Given the description of an element on the screen output the (x, y) to click on. 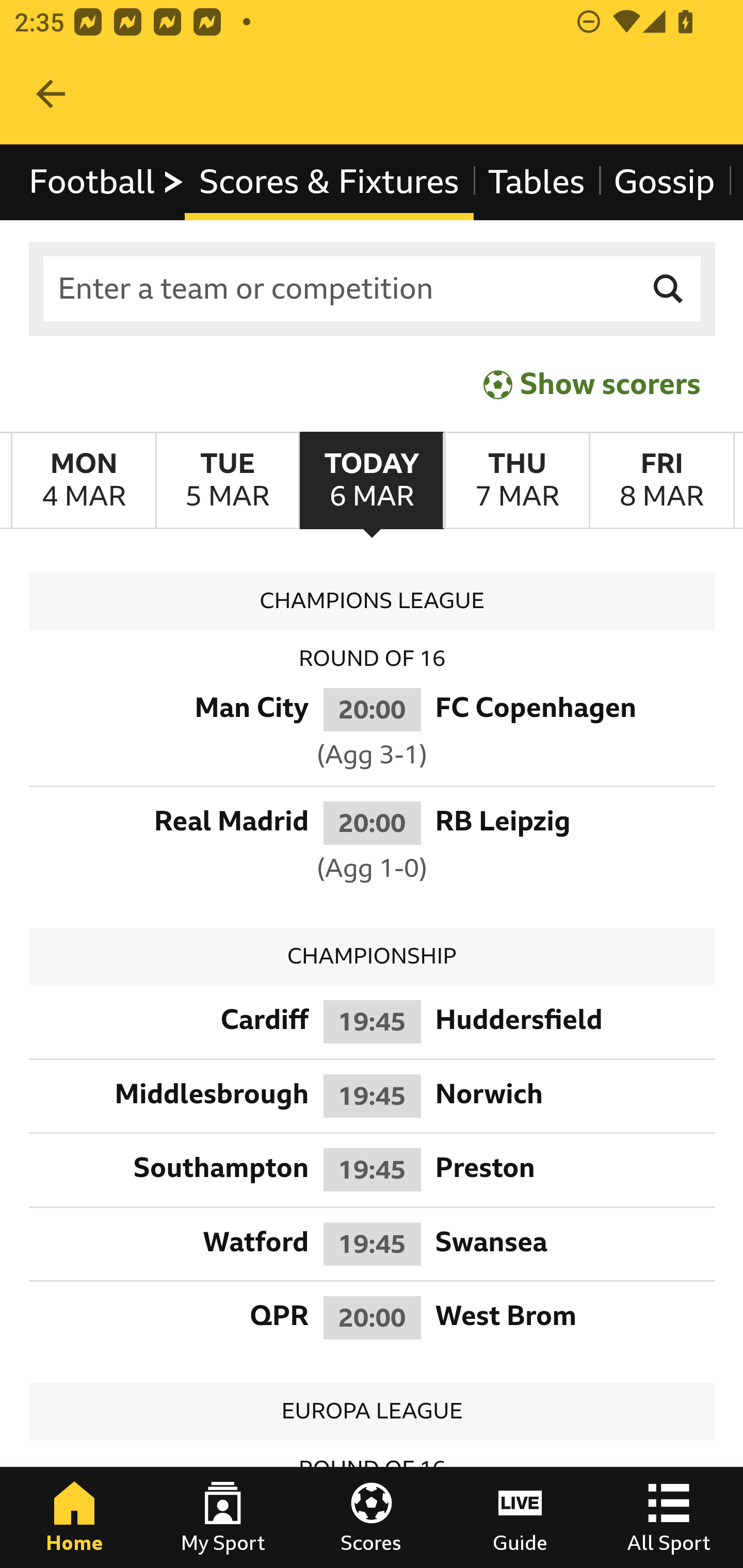
Navigate up (50, 93)
Football  (106, 181)
Scores & Fixtures (329, 181)
Tables (536, 181)
Gossip (664, 181)
Search (669, 289)
Show scorers (591, 383)
MondayMarch 4th Monday March 4th (83, 480)
TuesdayMarch 5th Tuesday March 5th (227, 480)
ThursdayMarch 7th Thursday March 7th (516, 480)
FridayMarch 8th Friday March 8th (661, 480)
My Sport (222, 1517)
Scores (371, 1517)
Guide (519, 1517)
All Sport (668, 1517)
